Given the description of an element on the screen output the (x, y) to click on. 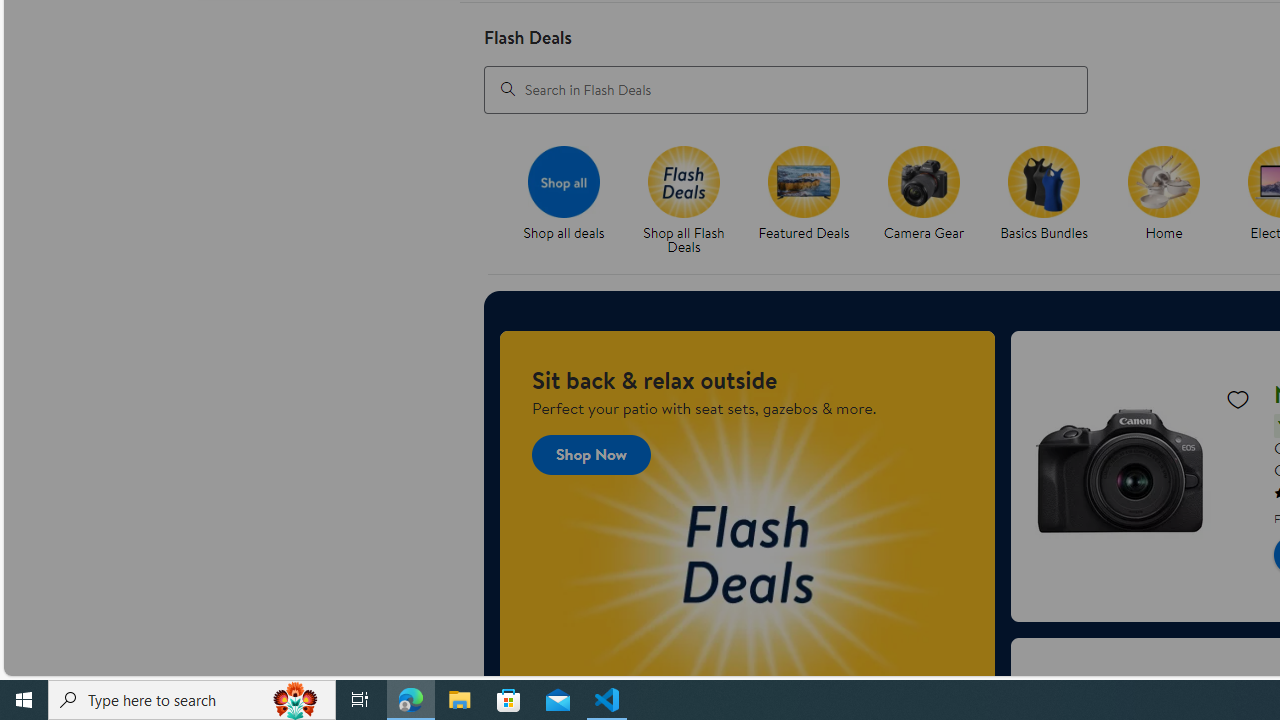
Flash Deals (683, 181)
Camera Gear (931, 200)
Shop all Flash Deals (692, 200)
Camera Gear Camera Gear (923, 194)
Camera Gear (924, 181)
Featured Deals (803, 181)
Shop all (563, 181)
Shop all deals (572, 200)
Home Home (1164, 194)
Search in Flash Deals (785, 88)
Flash Deals Shop all Flash Deals (684, 200)
Featured Deals Featured Deals (804, 194)
